Given the description of an element on the screen output the (x, y) to click on. 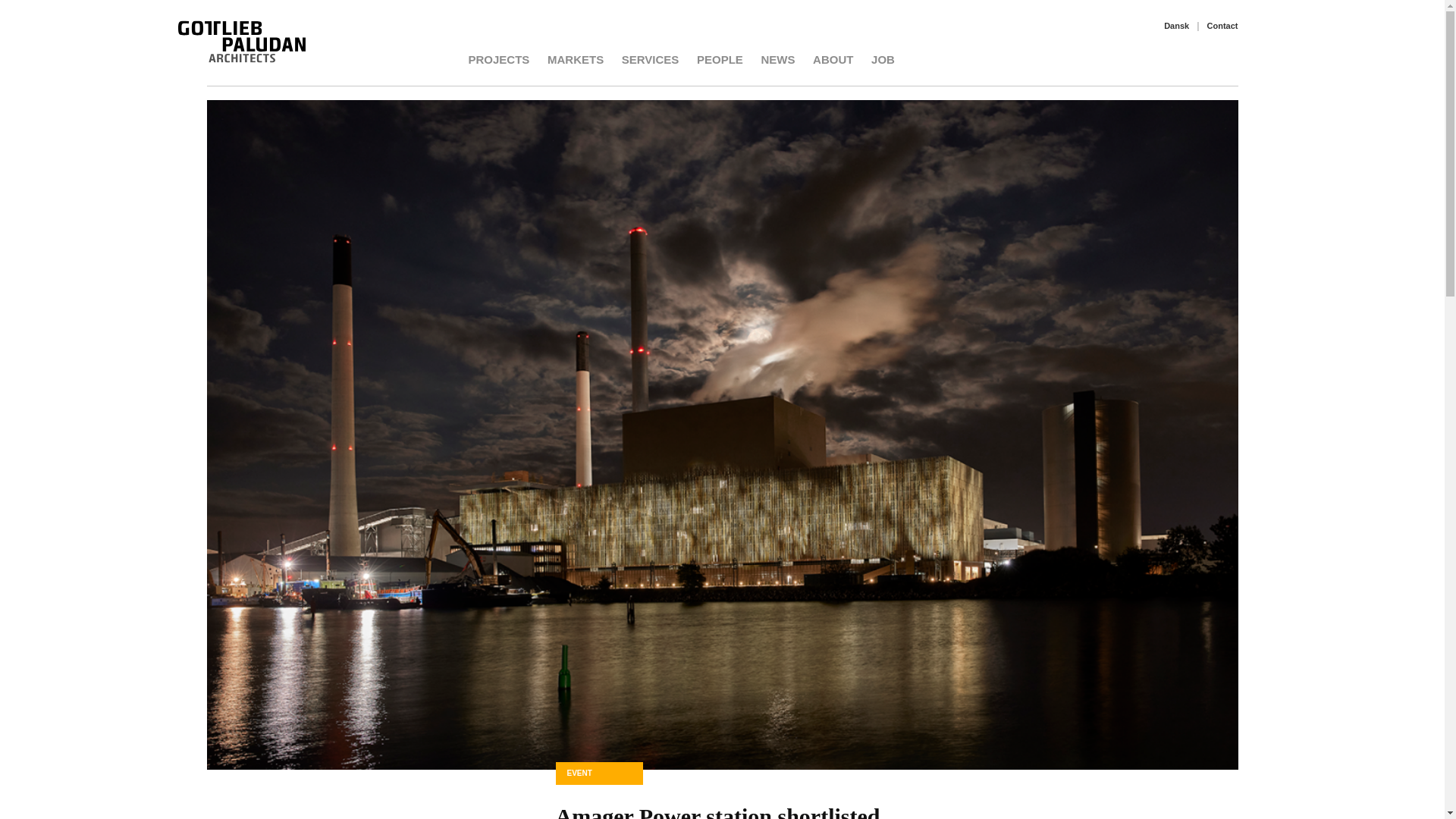
MARKETS (575, 59)
JOB (882, 59)
PROJECTS (498, 59)
Dansk (1176, 25)
Contact (1223, 25)
HOME (223, 60)
SERVICES (650, 59)
PEOPLE (719, 59)
NEWS (777, 59)
ABOUT (832, 59)
